Given the description of an element on the screen output the (x, y) to click on. 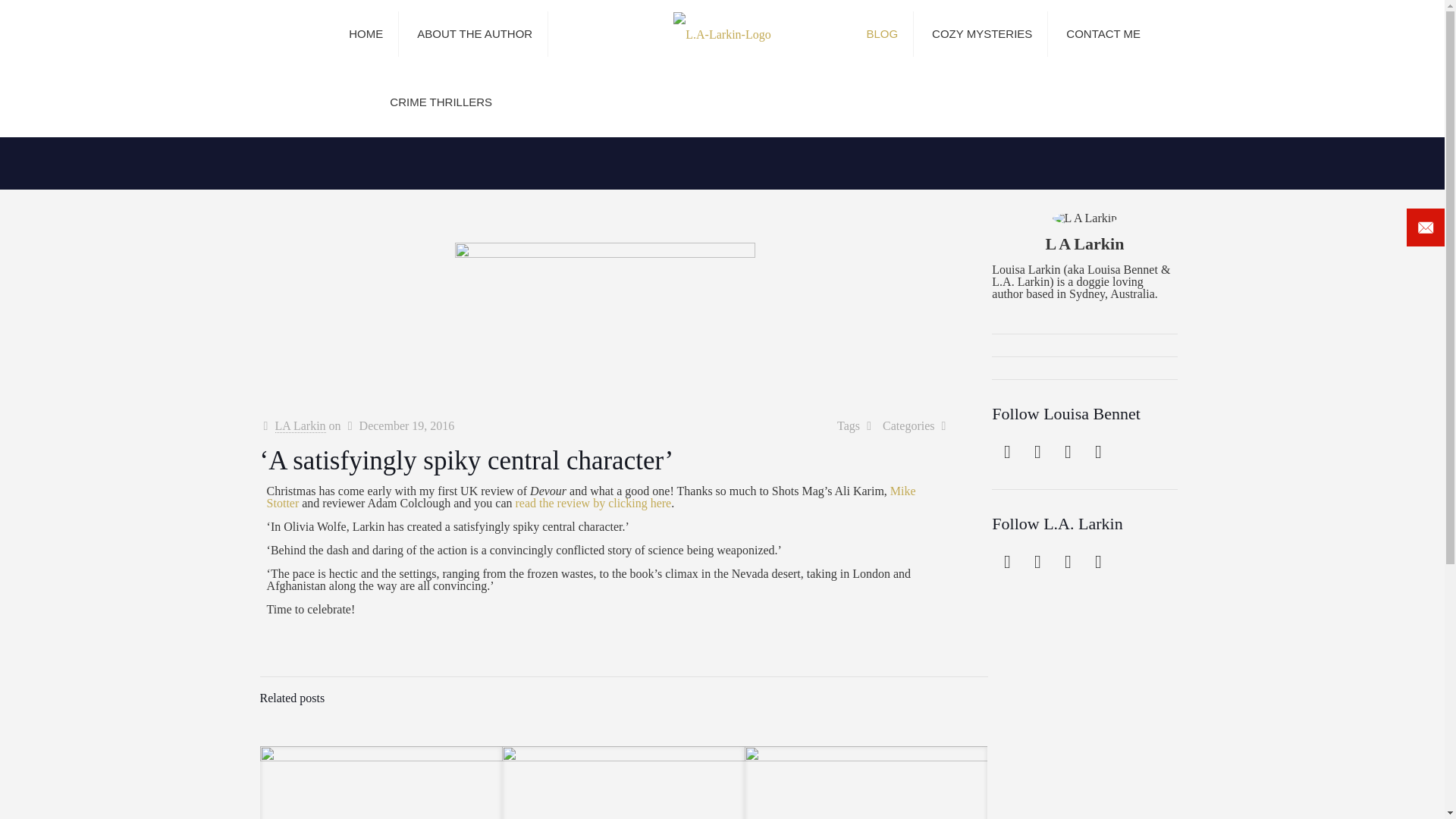
CRIME THRILLERS (440, 101)
LA Larkin (721, 33)
COZY MYSTERIES (982, 33)
BLOG (882, 33)
CONTACT ME (1103, 33)
instagram-lb (1098, 452)
HOME (365, 33)
Instagram LA (1098, 561)
ABOUT THE AUTHOR (474, 33)
Mike Stotter (590, 496)
